Given the description of an element on the screen output the (x, y) to click on. 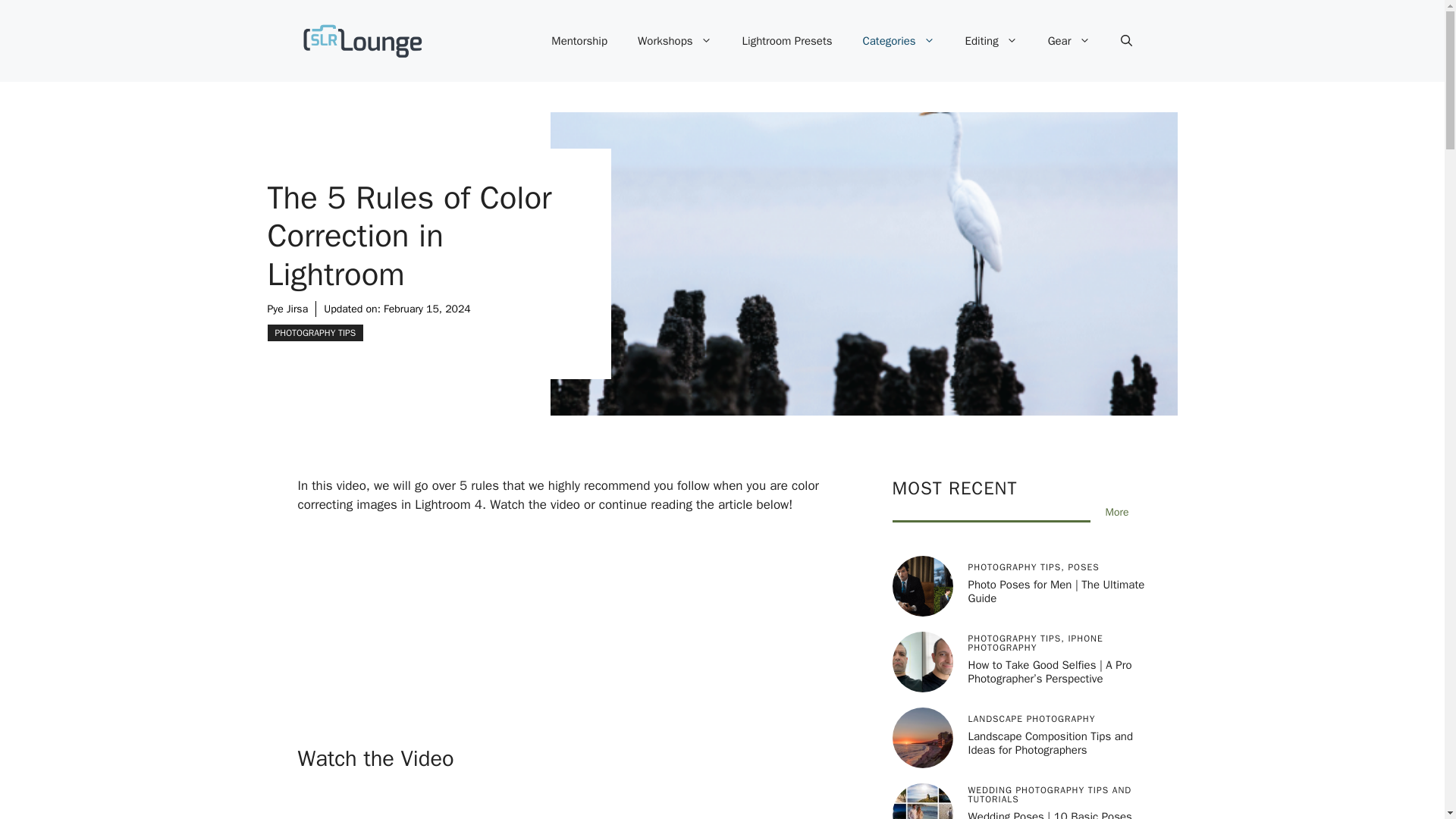
Workshops (674, 40)
3rd party ad content (579, 628)
Pye Jirsa (286, 308)
Gear (1068, 40)
Lightroom Presets (786, 40)
PHOTOGRAPHY TIPS (314, 332)
Mentorship (579, 40)
Editing (991, 40)
Categories (898, 40)
